Given the description of an element on the screen output the (x, y) to click on. 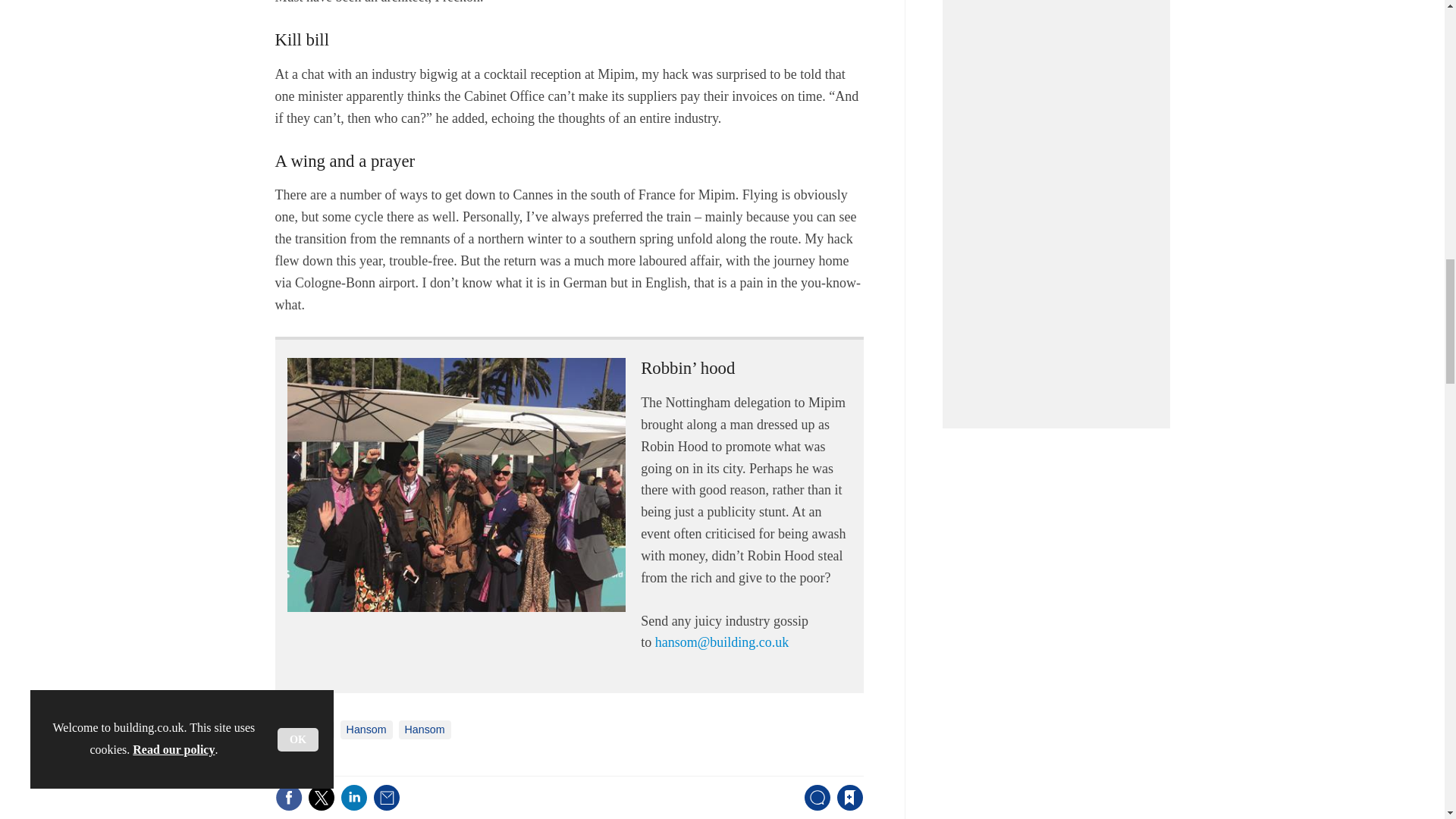
No comments (812, 806)
Email this article (386, 797)
Share this on Linked in (352, 797)
Share this on Twitter (320, 797)
Share this on Facebook (288, 797)
